Given the description of an element on the screen output the (x, y) to click on. 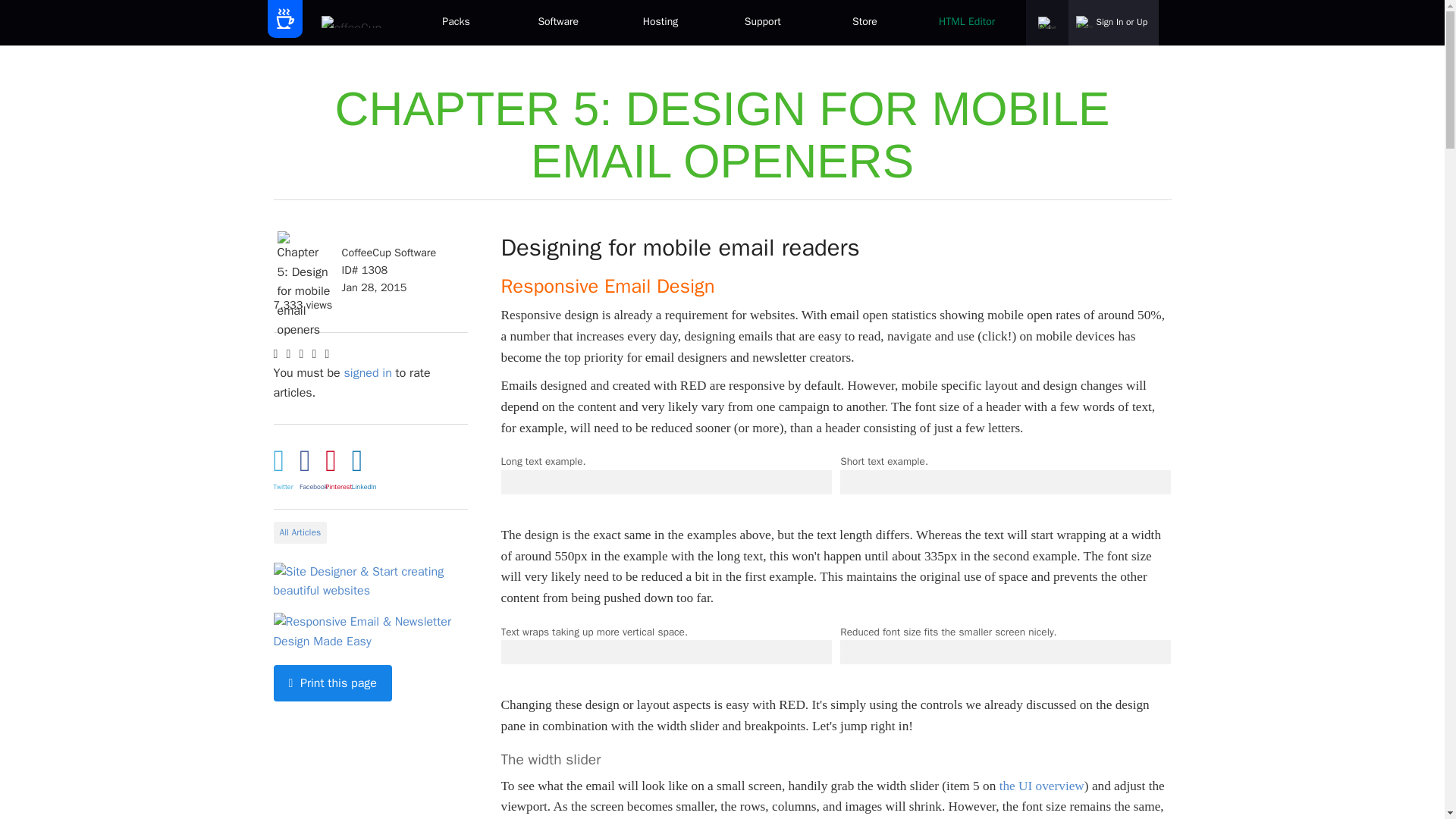
Support (762, 22)
Hosting (660, 22)
Store (864, 22)
Web design can be surprisingly simple. (558, 22)
Software (558, 22)
CoffeeCup Home (353, 22)
Everything you need for success on the web. (455, 22)
Packs (455, 22)
